Given the description of an element on the screen output the (x, y) to click on. 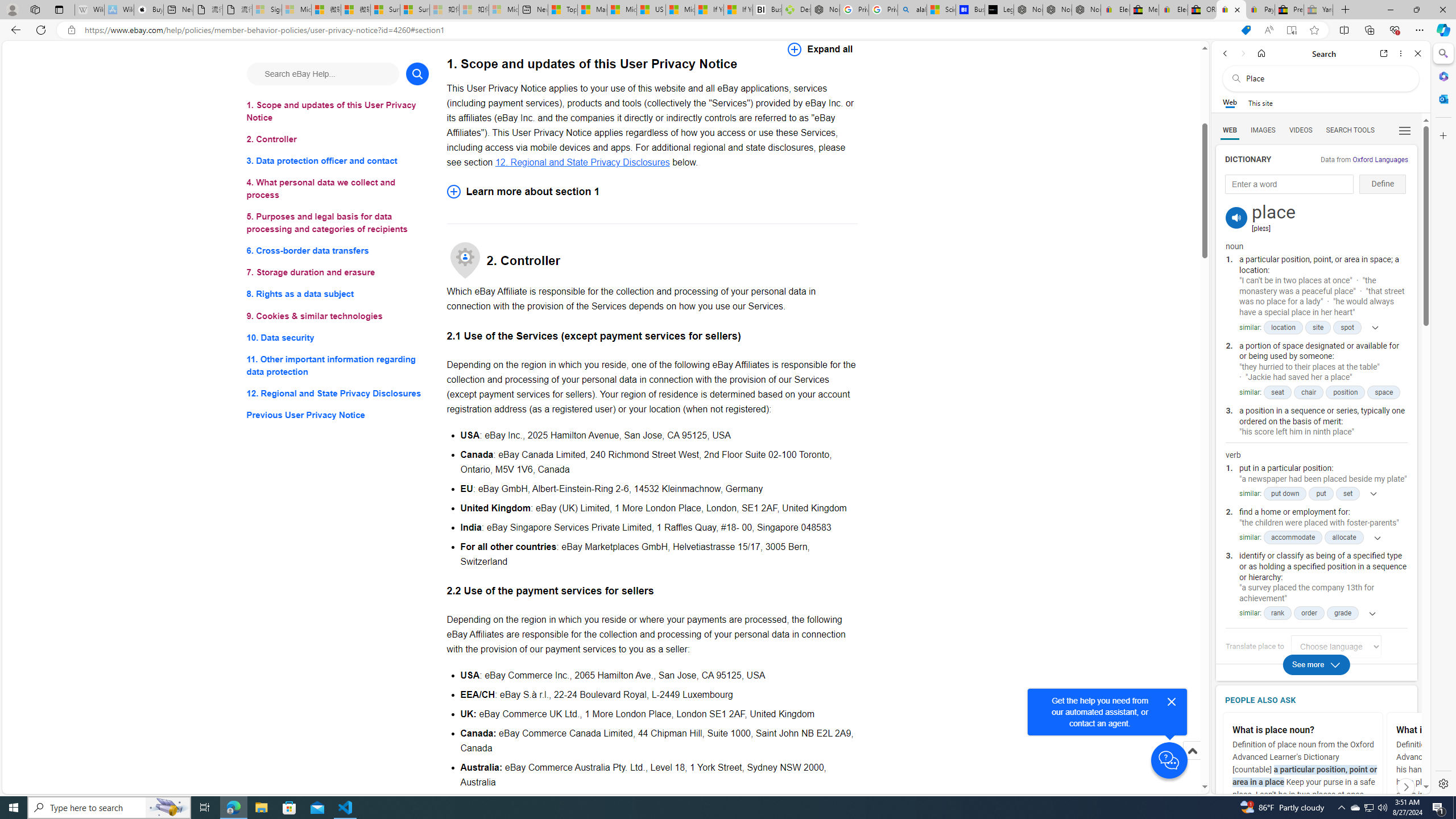
Nordace - My Account (825, 9)
Class: b_serphb (1404, 130)
accommodate (1293, 537)
Show more (1369, 612)
Search the web (1326, 78)
Microsoft account | Account Checkup - Sleeping (502, 9)
Microsoft Services Agreement - Sleeping (295, 9)
